Given the description of an element on the screen output the (x, y) to click on. 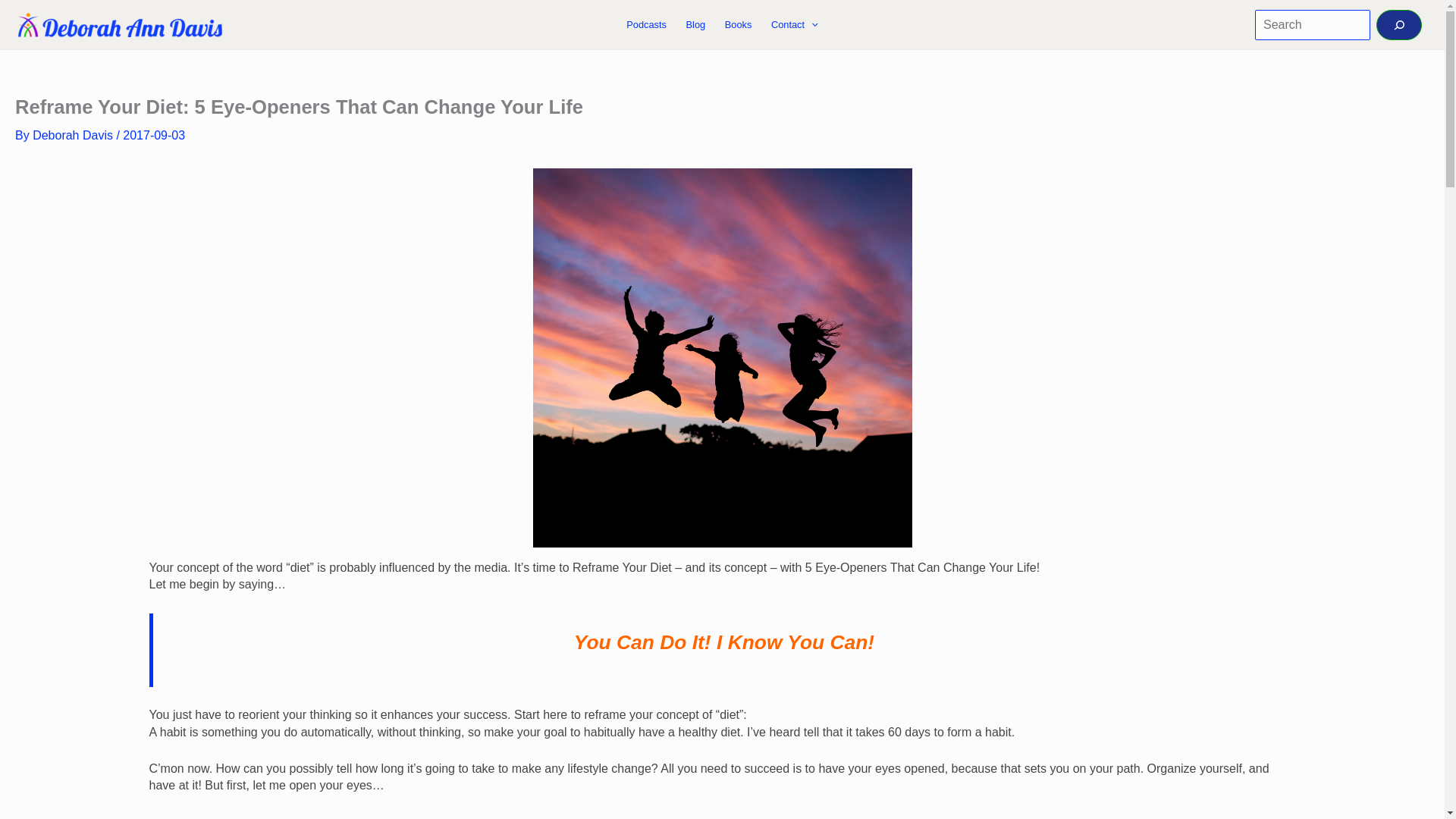
View all posts by Deborah Davis (74, 134)
Podcasts (647, 24)
Blog (695, 24)
Books (737, 24)
Contact (794, 24)
